Given the description of an element on the screen output the (x, y) to click on. 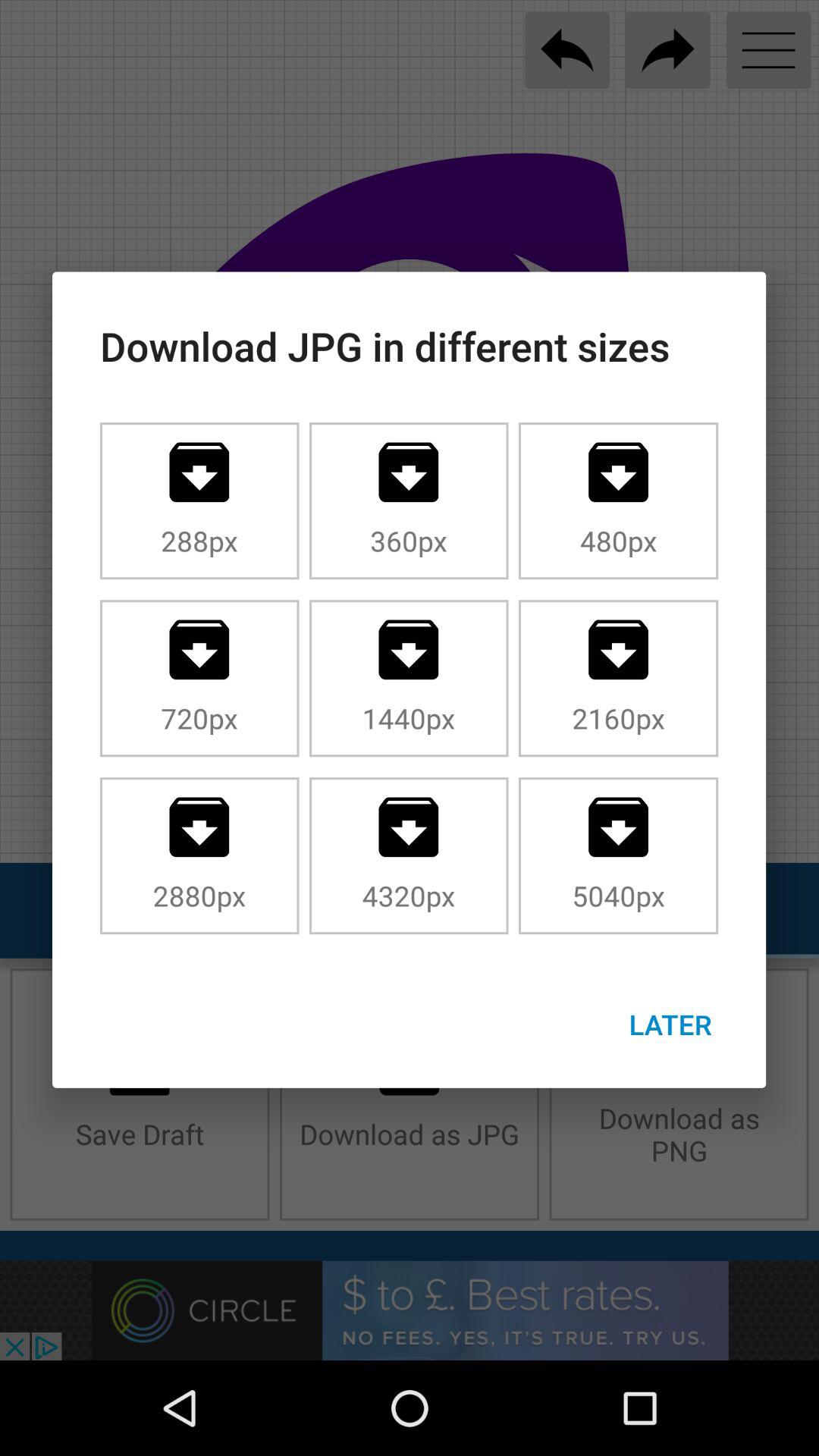
tap icon below 5040px (670, 1024)
